Given the description of an element on the screen output the (x, y) to click on. 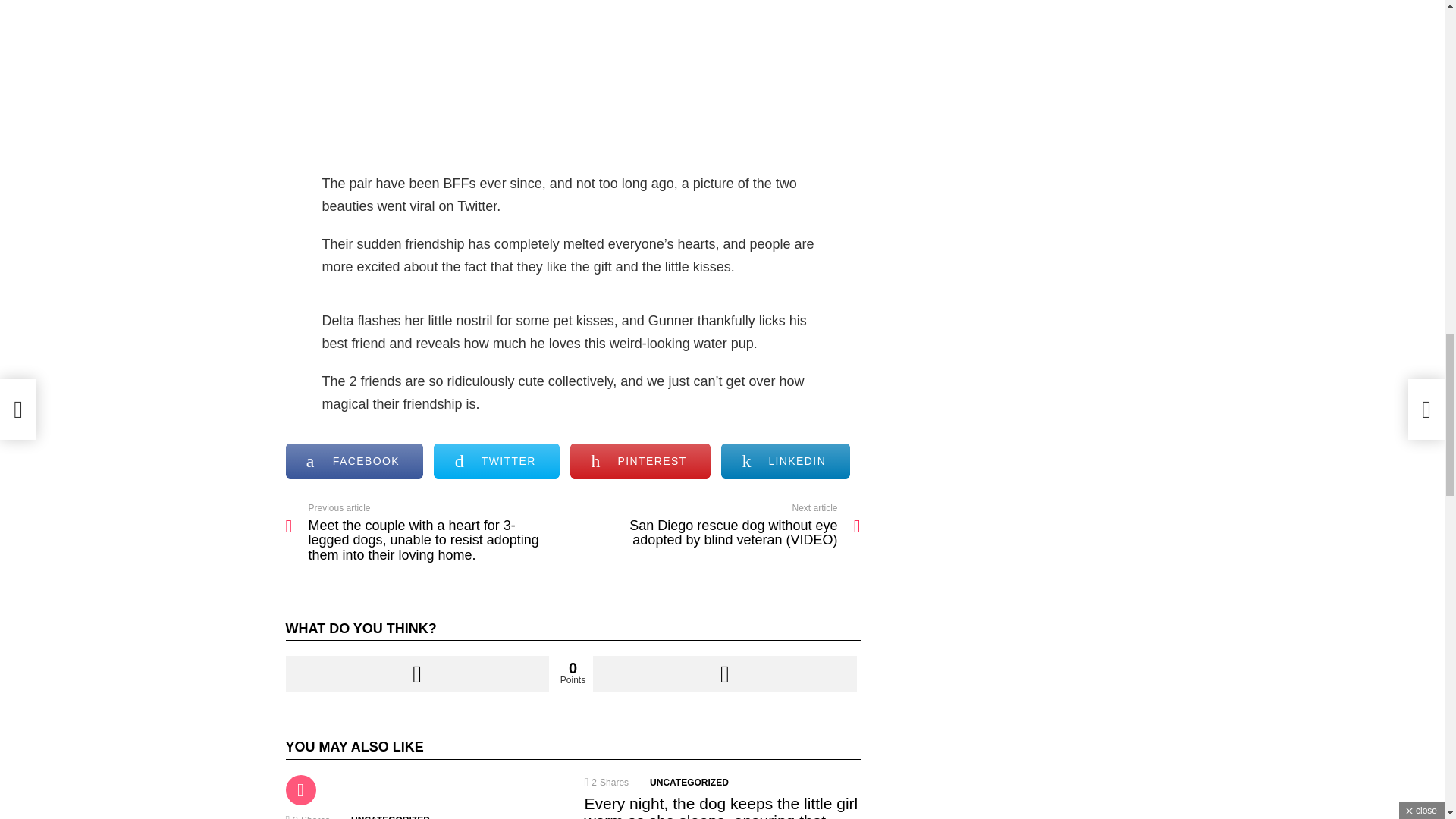
Downvote (724, 674)
TWITTER (496, 460)
PINTEREST (640, 460)
UNCATEGORIZED (390, 816)
FACEBOOK (354, 460)
LINKEDIN (784, 460)
Share on Pinterest (640, 460)
Share on Twitter (496, 460)
